Given the description of an element on the screen output the (x, y) to click on. 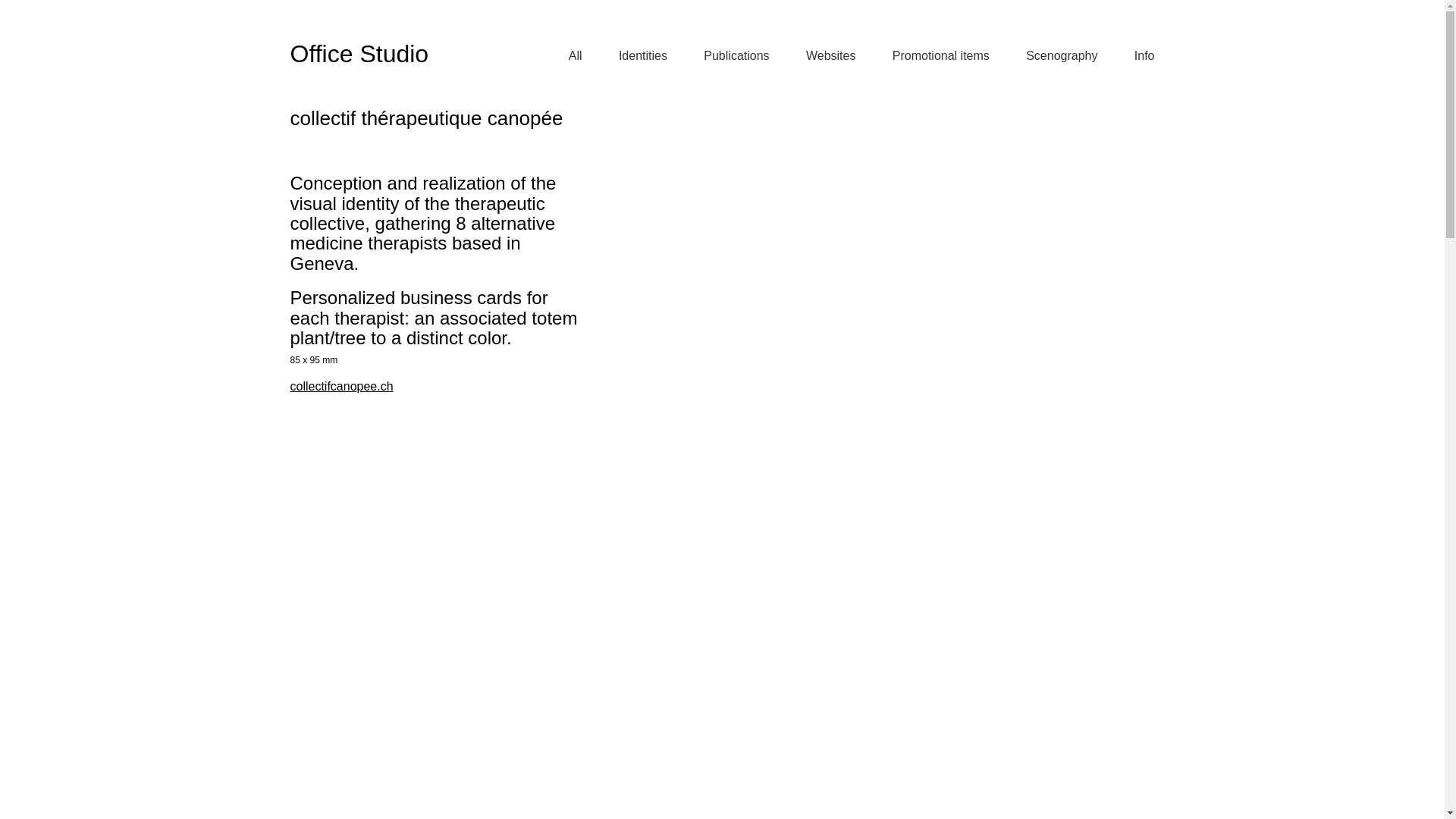
Promotional items Element type: text (940, 55)
Identities Element type: text (642, 55)
Info Element type: text (1144, 55)
All Element type: text (575, 55)
Office Studio Element type: text (358, 53)
Websites Element type: text (831, 55)
collectifcanopee.ch Element type: text (340, 385)
Publications Element type: text (735, 55)
Scenography Element type: text (1061, 55)
